Given the description of an element on the screen output the (x, y) to click on. 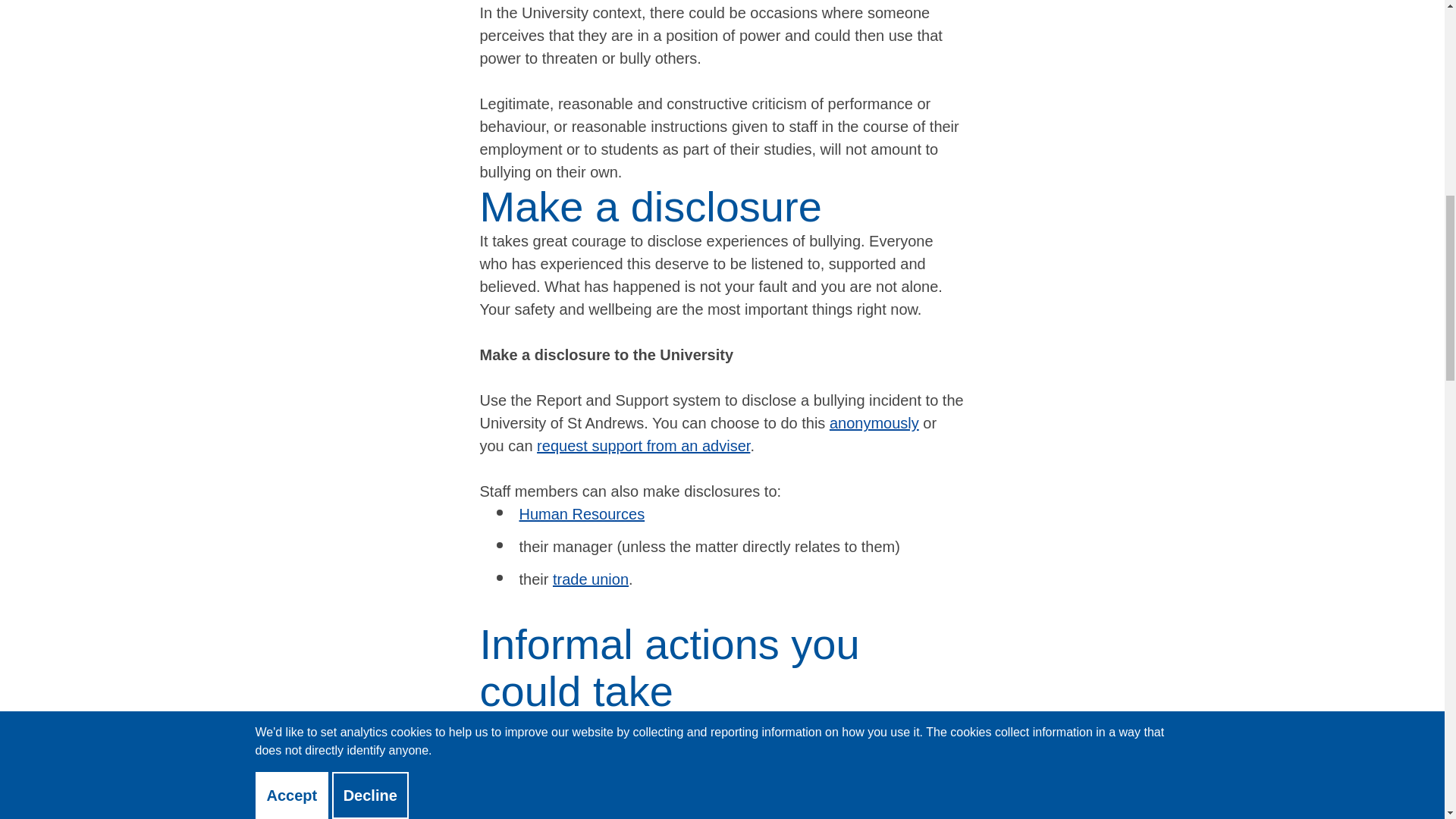
request support from an adviser (643, 445)
Human Resources (581, 514)
Accept (291, 83)
trade union (590, 579)
anonymously (873, 422)
Decline (370, 83)
